Given the description of an element on the screen output the (x, y) to click on. 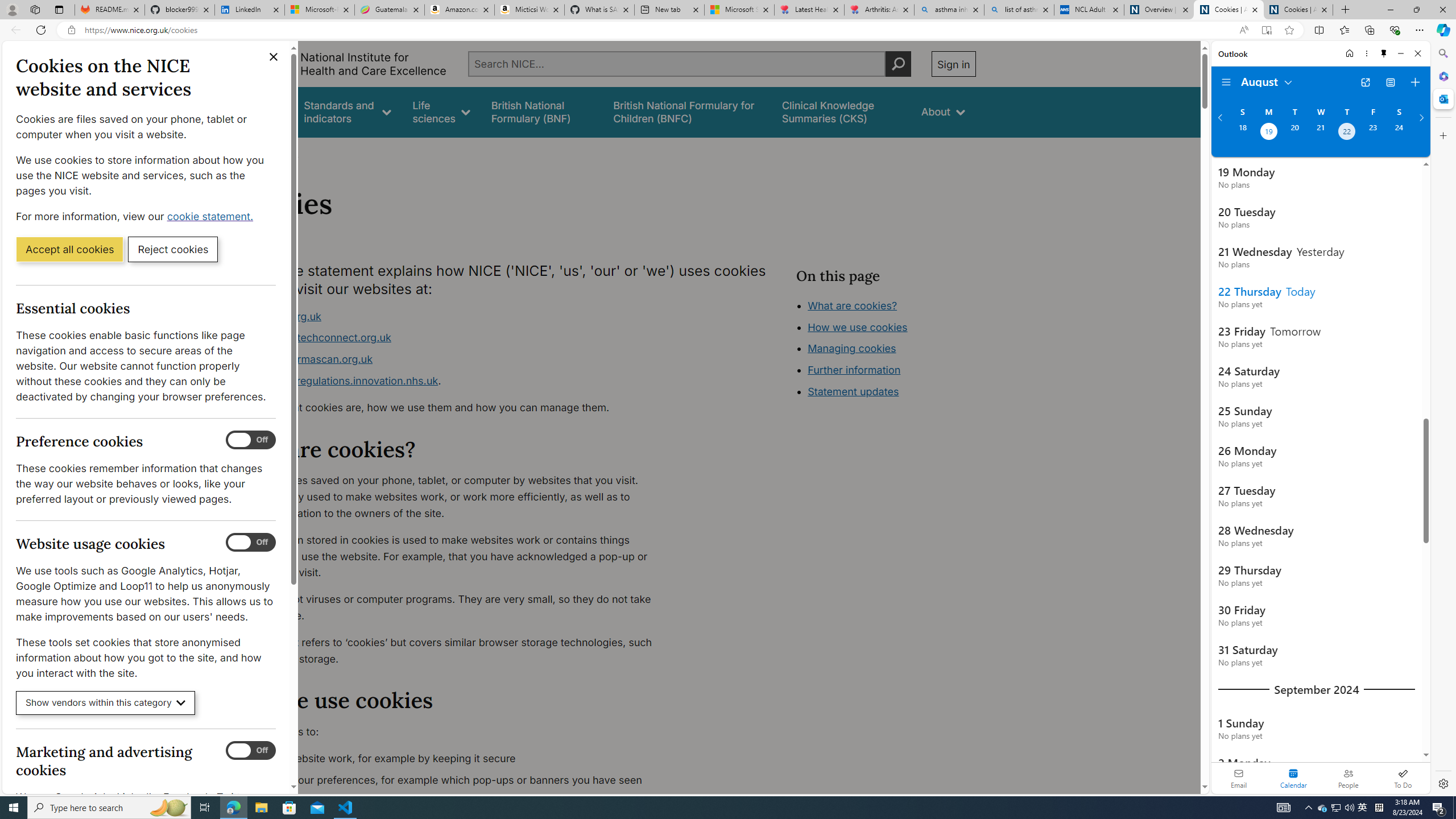
www.digitalregulations.innovation.nhs.uk. (452, 380)
cookie statement. (Opens in a new window) (211, 215)
Saturday, August 24, 2024.  (1399, 132)
August (1267, 80)
People (1347, 777)
Tuesday, August 20, 2024.  (1294, 132)
Selected calendar module. Date today is 22 (1293, 777)
